Given the description of an element on the screen output the (x, y) to click on. 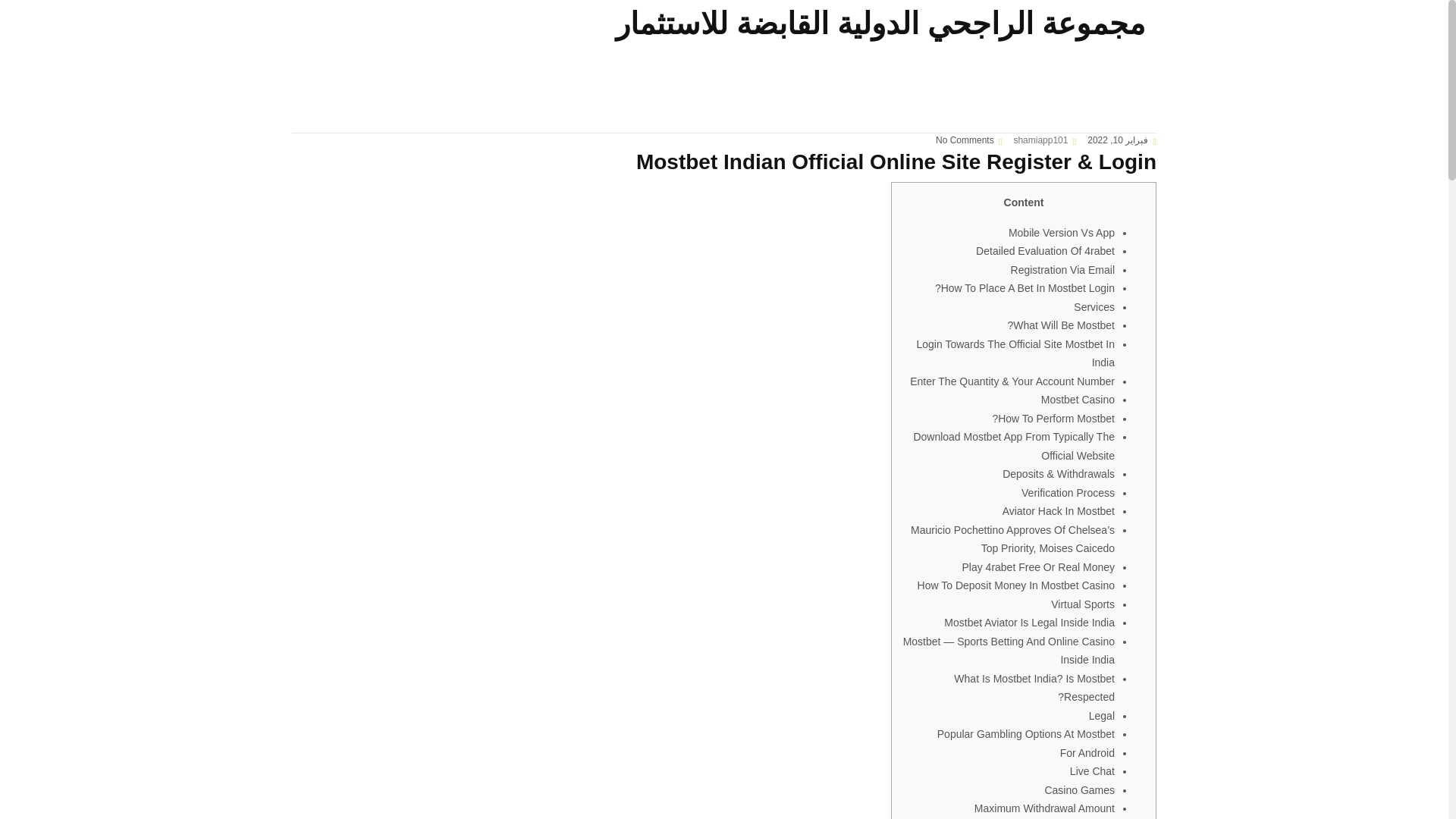
What Is Mostbet India? Is Mostbet Respected? (1034, 687)
How To Deposit Money In Mostbet Casino (1016, 585)
Verification Process (1068, 492)
Mostbet Casino (1078, 399)
Maximum Withdrawal Amount (1044, 808)
Aviator Hack In Mostbet (1059, 510)
For Android (1087, 752)
Play 4rabet Free Or Real Money (1037, 567)
Registration Via Email (1062, 269)
shamiapp101 (1040, 140)
